Given the description of an element on the screen output the (x, y) to click on. 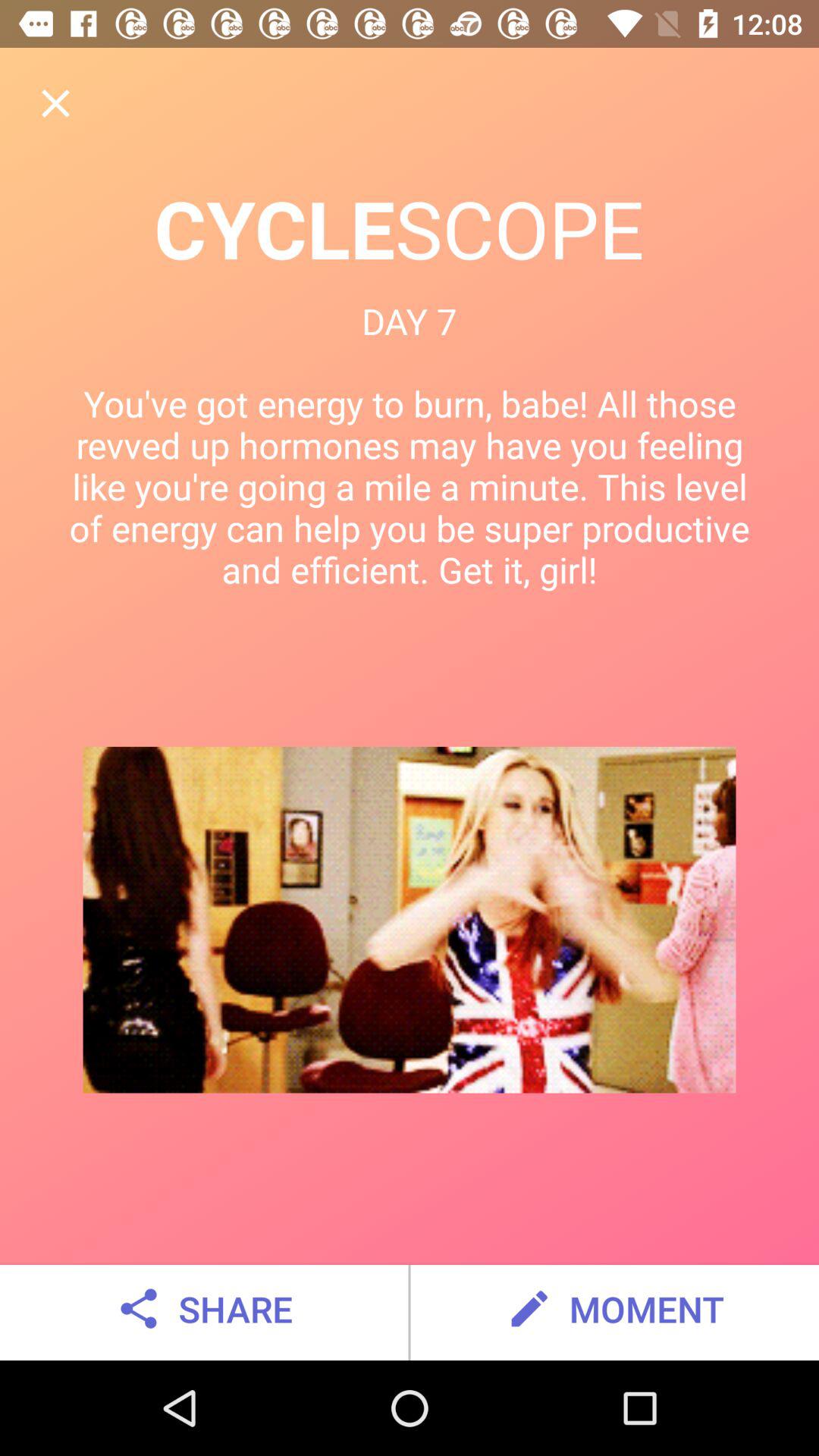
swipe to the share (203, 1308)
